Given the description of an element on the screen output the (x, y) to click on. 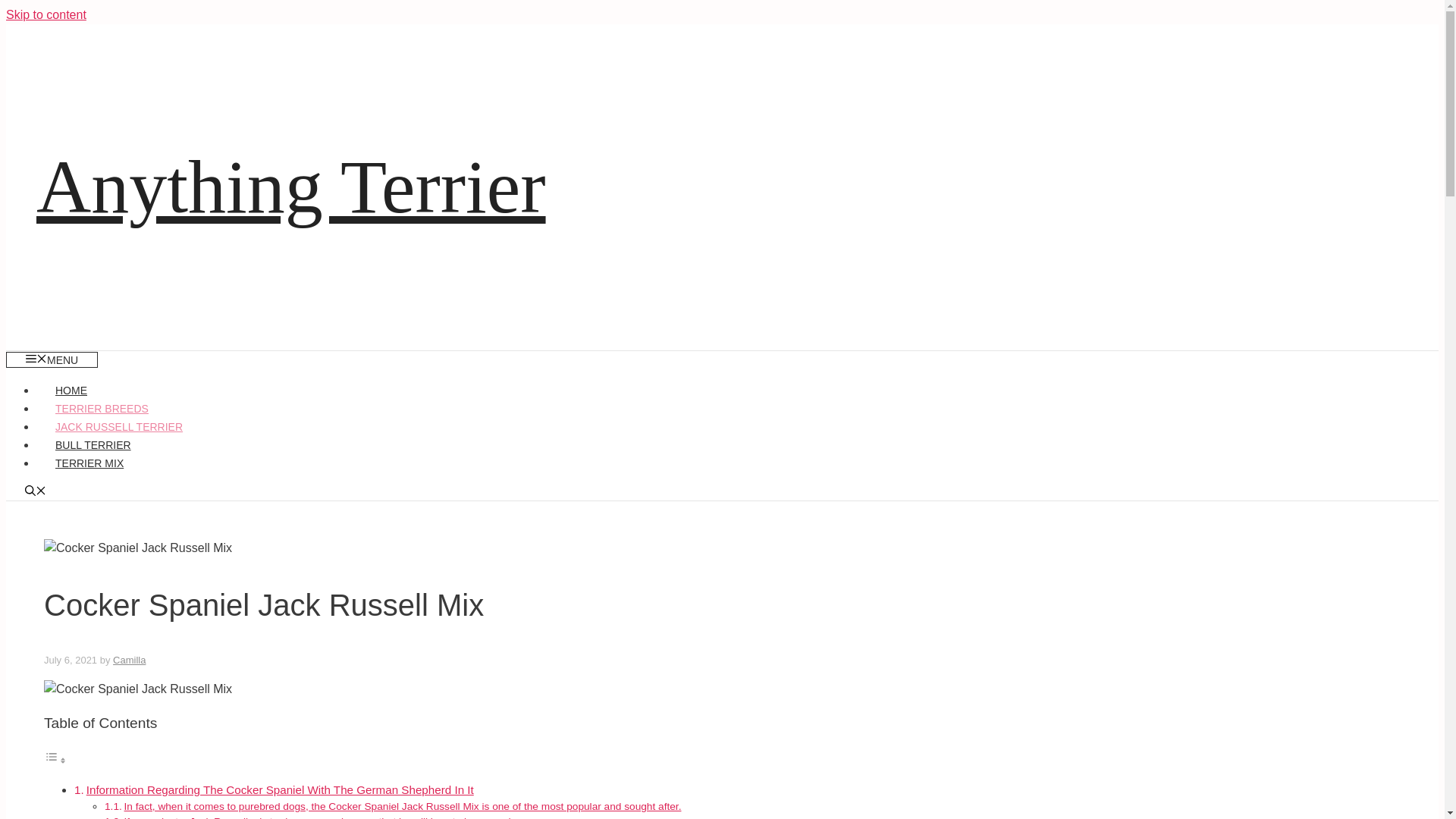
Skip to content (45, 14)
TERRIER MIX (89, 463)
View all posts by Camilla (129, 659)
Skip to content (45, 14)
Anything Terrier (291, 186)
Camilla (129, 659)
JACK RUSSELL TERRIER (119, 426)
TERRIER BREEDS (101, 408)
HOME (71, 390)
